Given the description of an element on the screen output the (x, y) to click on. 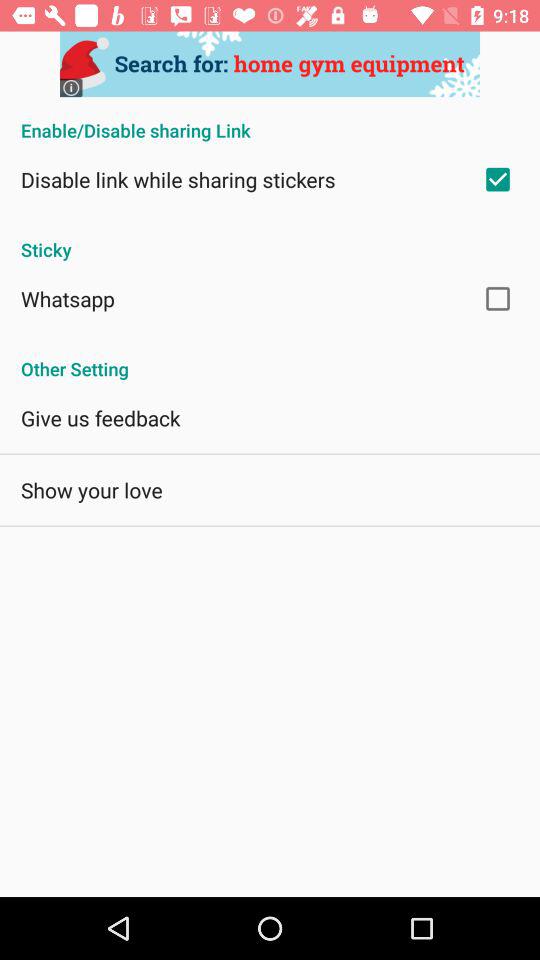
flip to enable disable sharing (270, 119)
